Given the description of an element on the screen output the (x, y) to click on. 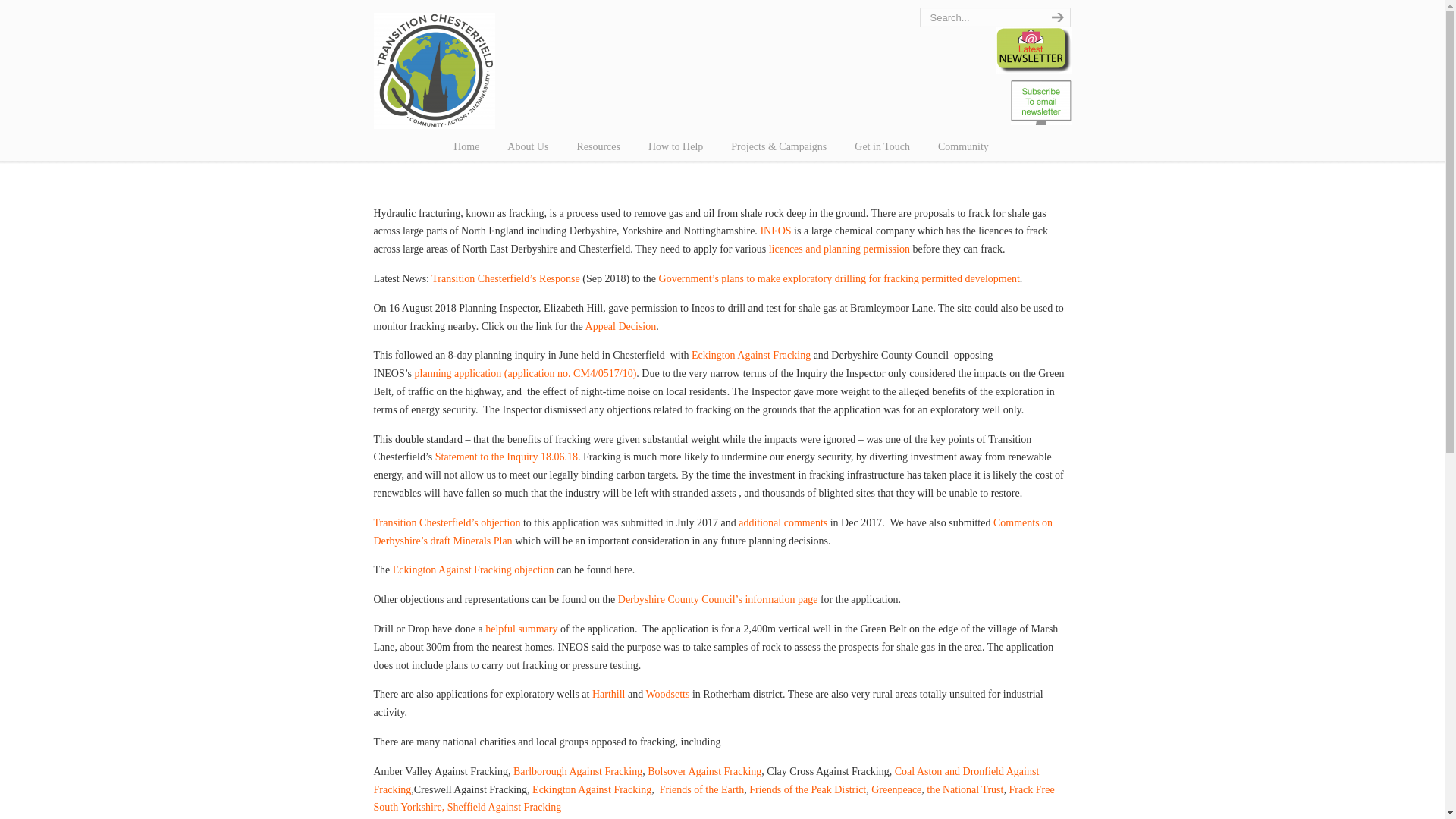
Home (466, 146)
additional comments (782, 522)
Resources (597, 146)
Harthill (609, 694)
Eckington Against Fracking (750, 355)
Statement to the Inquiry 18.06.18 (506, 456)
Transition Chesterfield (433, 67)
How to Help (675, 146)
search (1055, 17)
Eckington Against Fracking objection (473, 569)
Get in Touch (882, 146)
helpful summary (520, 628)
INEOS (775, 230)
About Us (527, 146)
search (1055, 17)
